Given the description of an element on the screen output the (x, y) to click on. 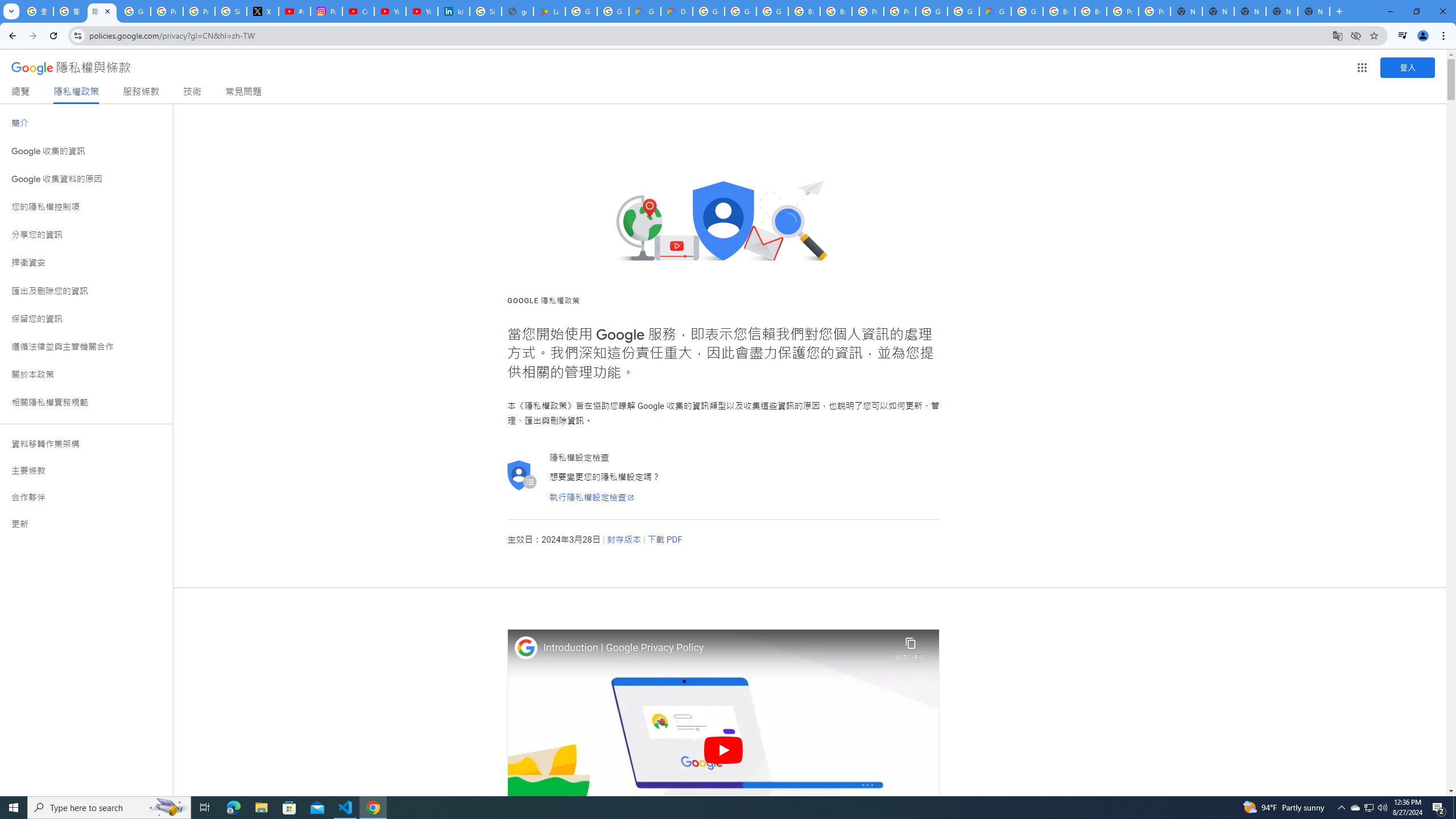
Last Shelter: Survival - Apps on Google Play (549, 11)
